Given the description of an element on the screen output the (x, y) to click on. 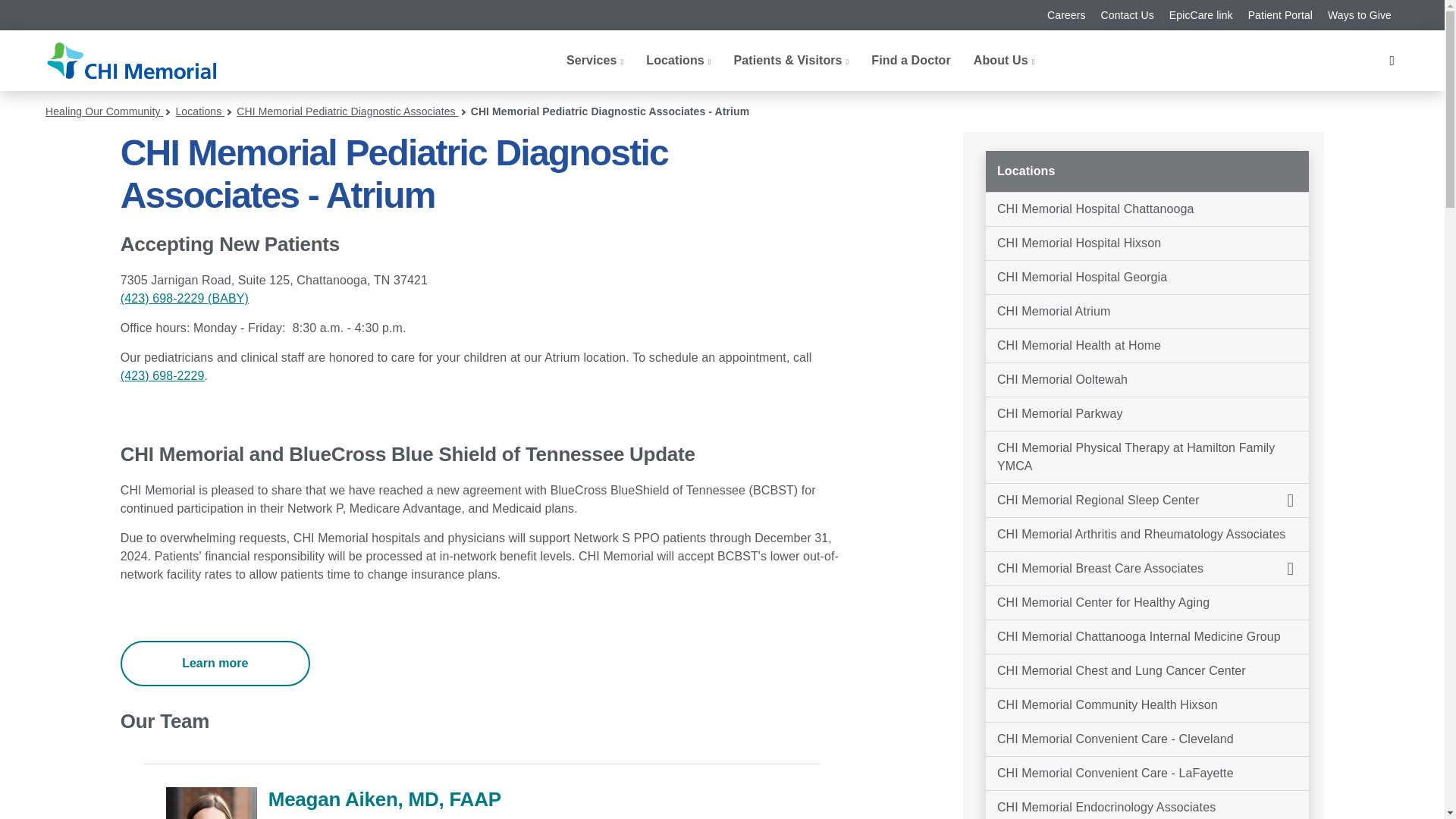
Locations (678, 60)
Ways to Give (1359, 15)
EpicCare link (1200, 15)
CHI Memorial Pediatric Diagnostic Associates - Atrium (211, 803)
Contact Us (1127, 15)
Patient Portal (1280, 15)
Services (594, 60)
Careers (1066, 15)
